Given the description of an element on the screen output the (x, y) to click on. 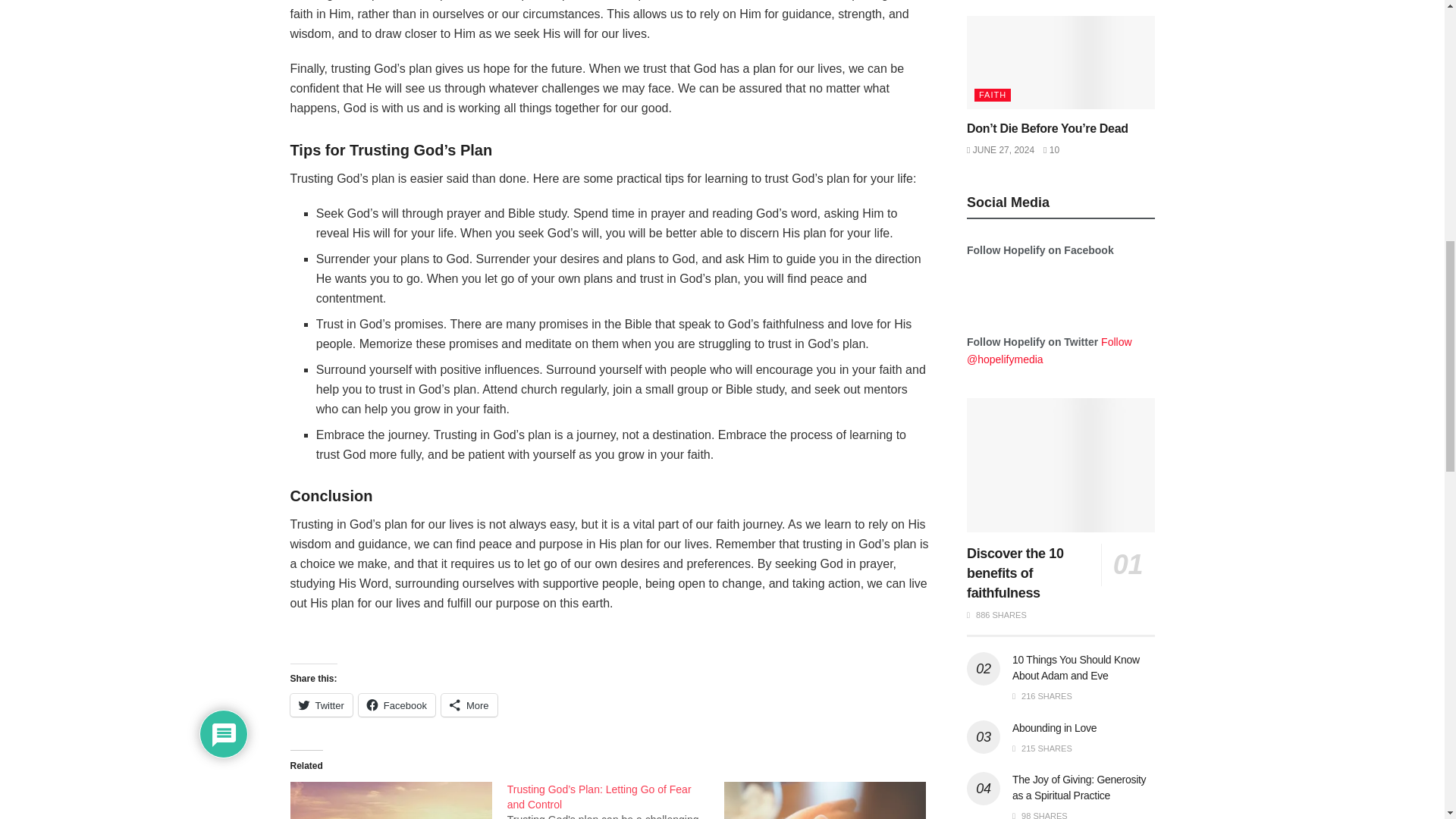
Click to share on Facebook (396, 704)
Click to share on Twitter (320, 704)
